Given the description of an element on the screen output the (x, y) to click on. 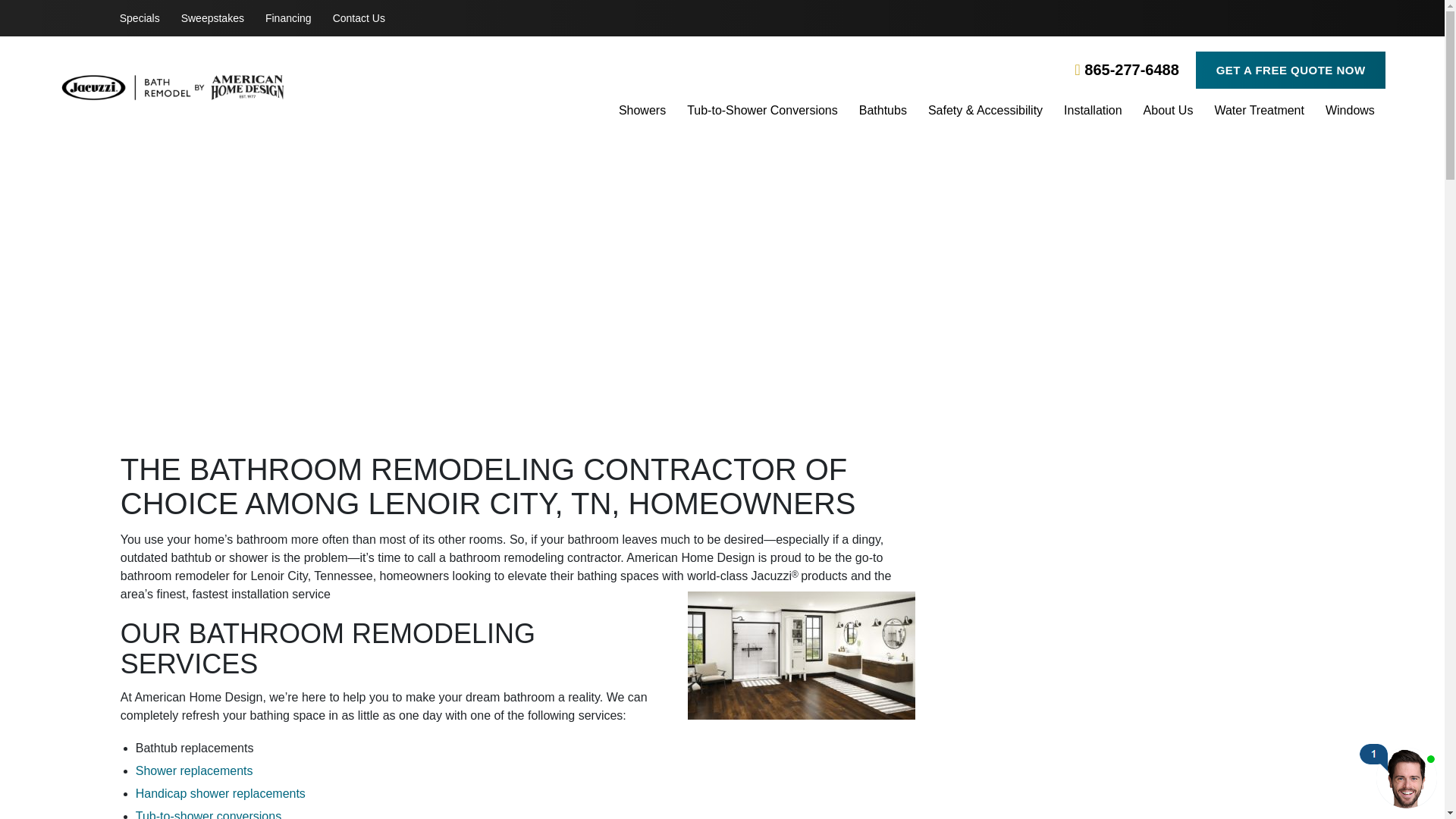
Installation (1093, 112)
Jacuzzi Bath Remodel of Knoxville (279, 87)
Get a Free Quote Now (1131, 747)
Windows (1349, 112)
Showers (641, 112)
Bathroom Remodeling Contractor Lenoir City TN (801, 655)
865-277-6488 (1125, 69)
Financing (287, 18)
GET A FREE QUOTE NOW (1289, 69)
Tub-to-shower conversions (208, 814)
